Given the description of an element on the screen output the (x, y) to click on. 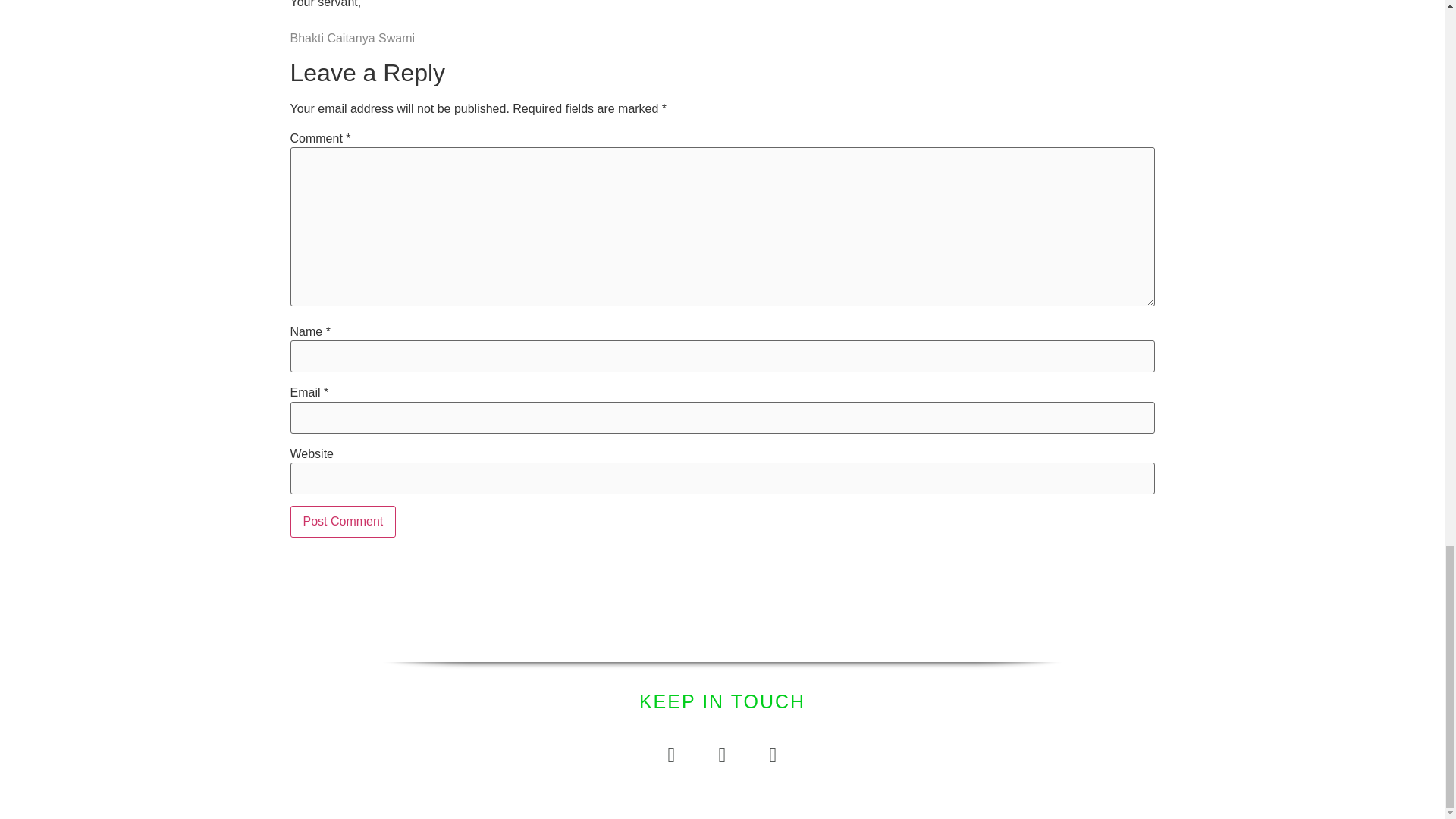
Post Comment (342, 521)
